Given the description of an element on the screen output the (x, y) to click on. 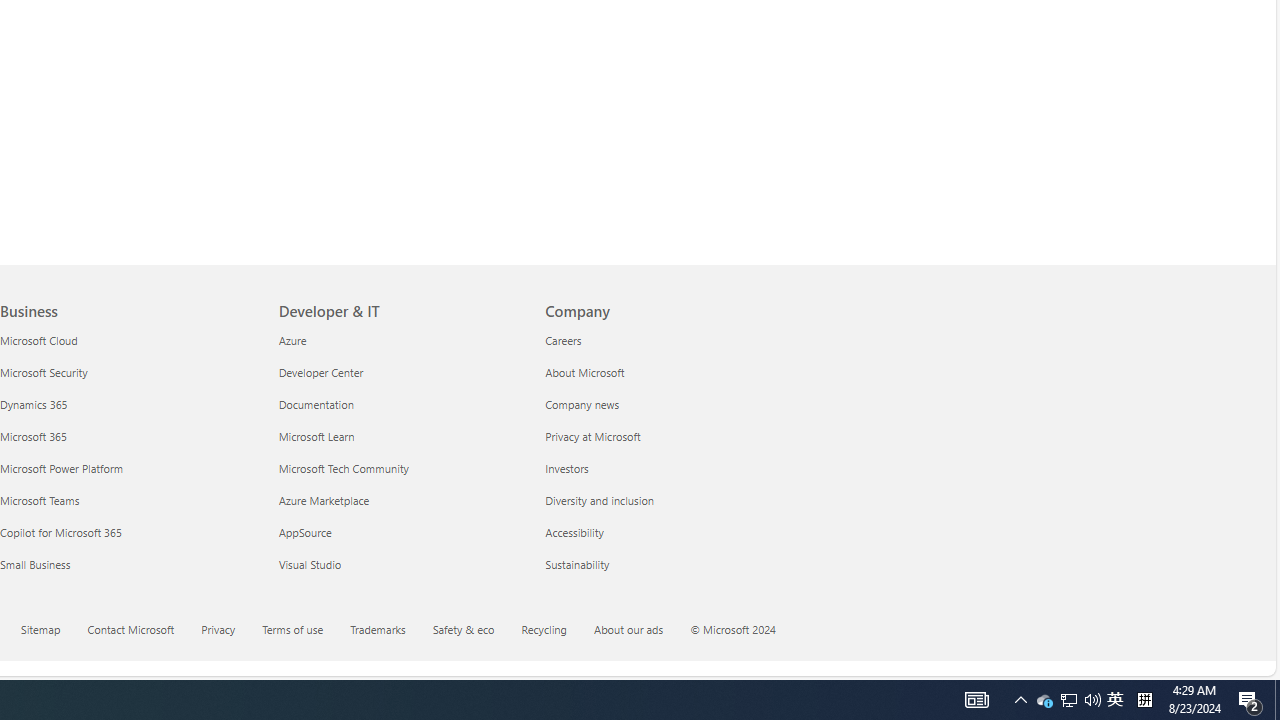
Documentation Developer & IT (315, 403)
Azure Developer & IT (292, 339)
Developer Center Developer & IT (320, 372)
Sitemap (52, 631)
